Given the description of an element on the screen output the (x, y) to click on. 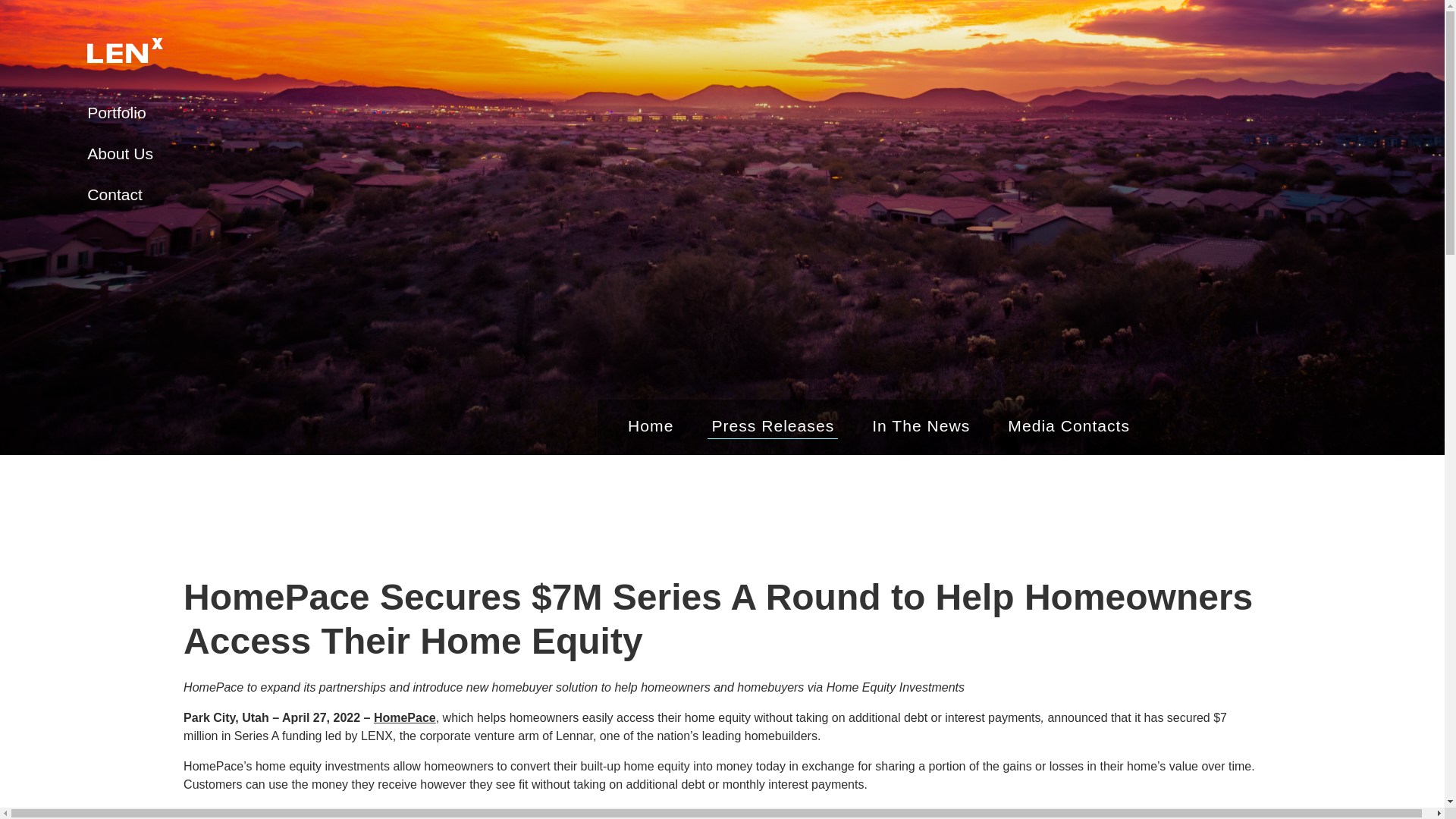
In The News (920, 425)
Home (650, 425)
Press Releases (772, 425)
Media Contacts (1069, 425)
HomePace (404, 717)
